Given the description of an element on the screen output the (x, y) to click on. 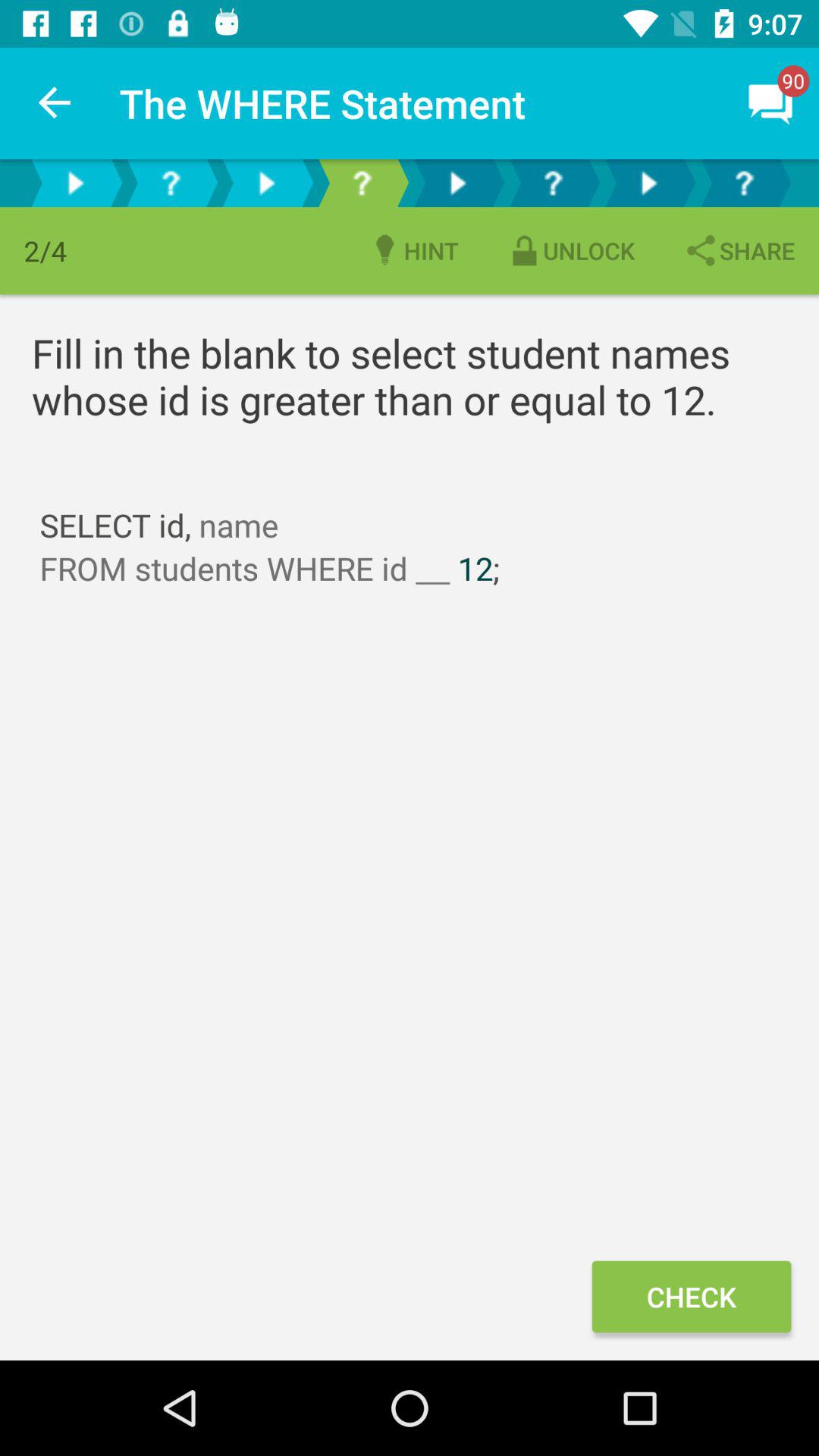
select this option (552, 183)
